Given the description of an element on the screen output the (x, y) to click on. 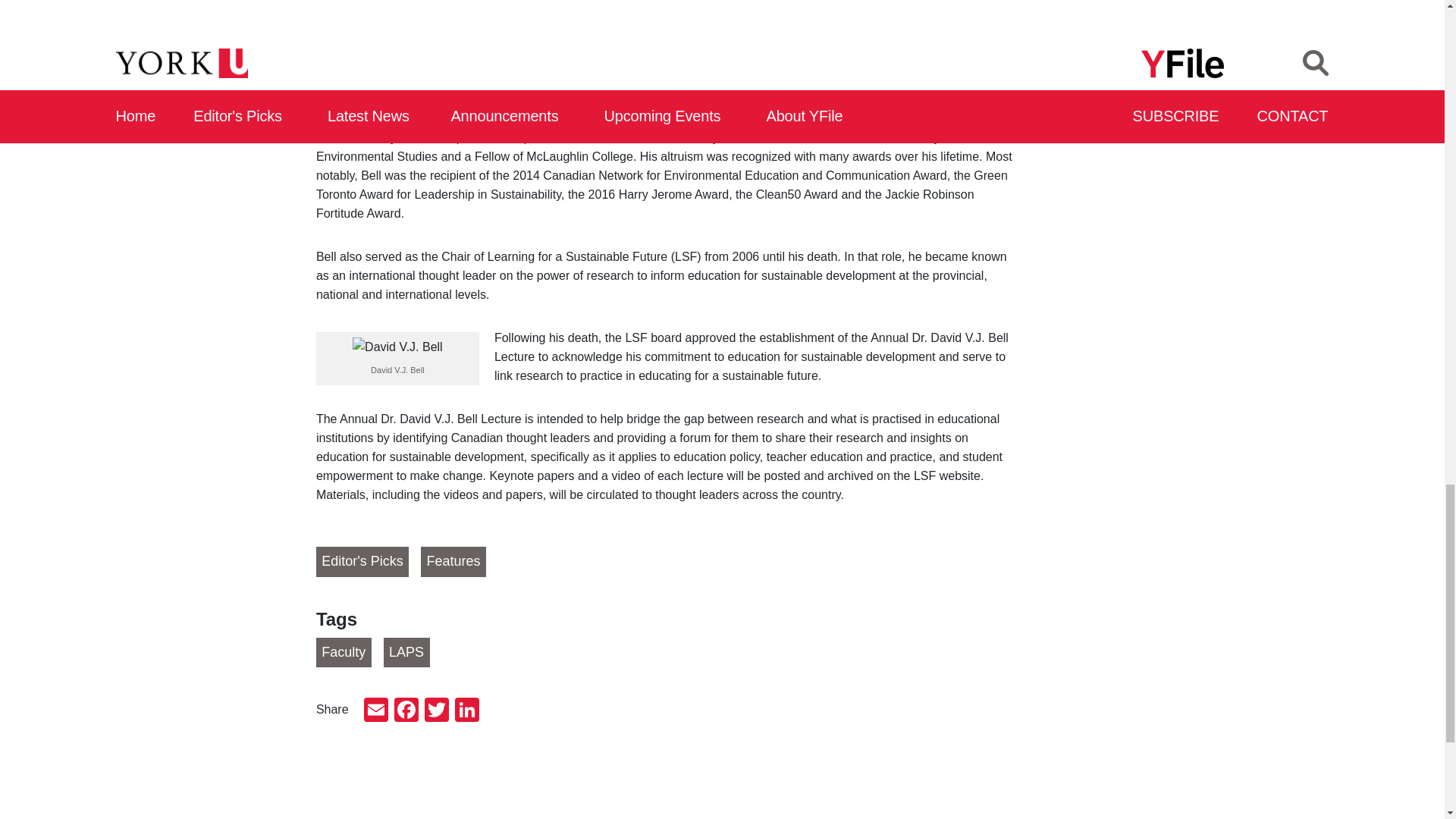
Features (453, 562)
Email (376, 711)
Facebook (406, 711)
Editor's Picks (362, 562)
Faculty (343, 653)
LinkedIn (466, 711)
Twitter (436, 711)
